Given the description of an element on the screen output the (x, y) to click on. 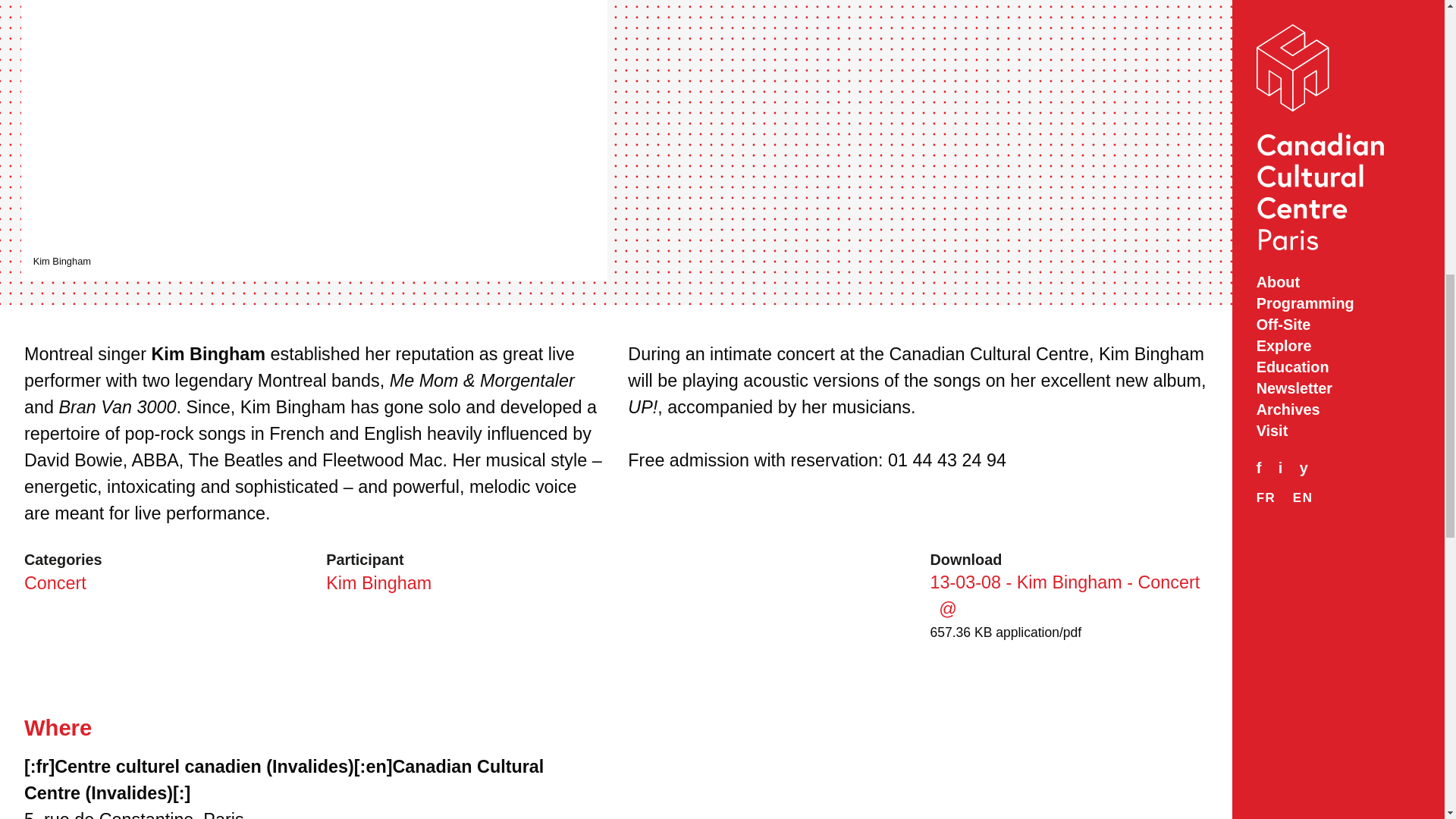
Kim Bingham (378, 582)
Concert (54, 582)
13-03-08 - Kim Bingham - Concert (1064, 595)
